Given the description of an element on the screen output the (x, y) to click on. 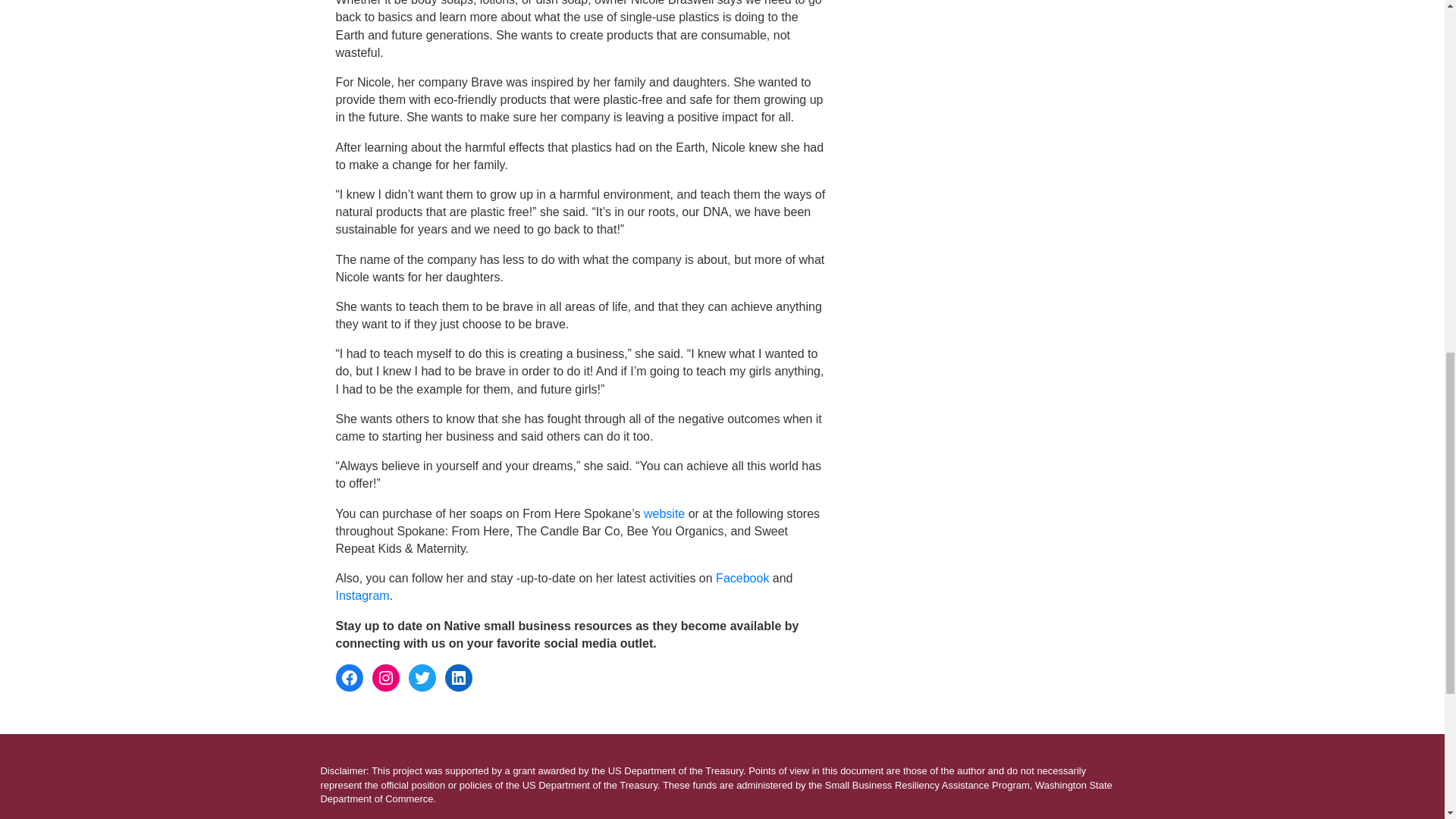
LinkedIn (457, 677)
Instagram (384, 677)
website (663, 513)
Facebook (348, 677)
Twitter (421, 677)
Facebook (742, 577)
Instagram (361, 594)
